Given the description of an element on the screen output the (x, y) to click on. 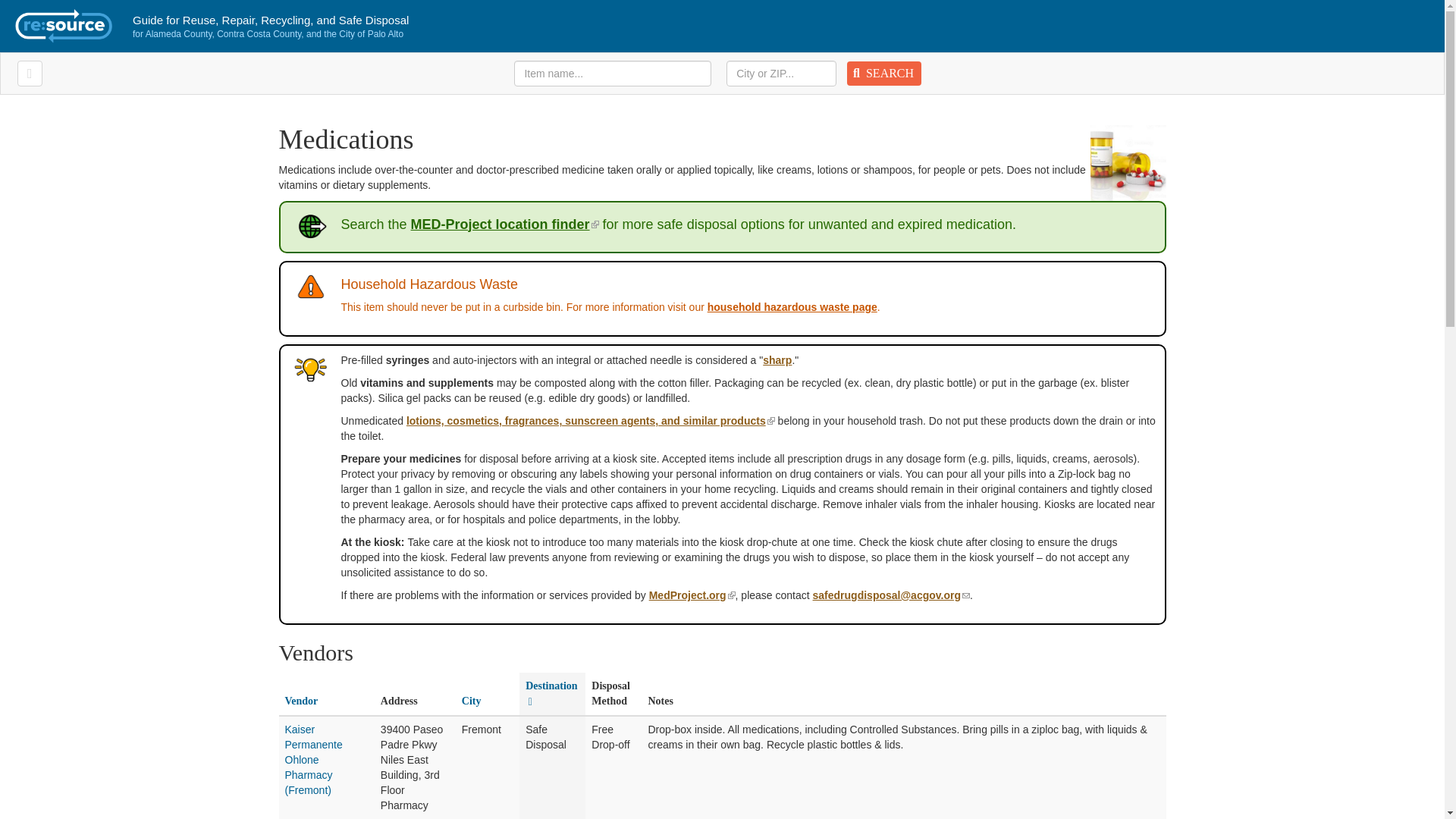
Destination (550, 693)
sort by Destination (550, 693)
household hazardous waste page (792, 306)
sort by Vendor (301, 700)
Vendor (301, 700)
City (471, 700)
sort by City (471, 700)
sharp (777, 359)
